Given the description of an element on the screen output the (x, y) to click on. 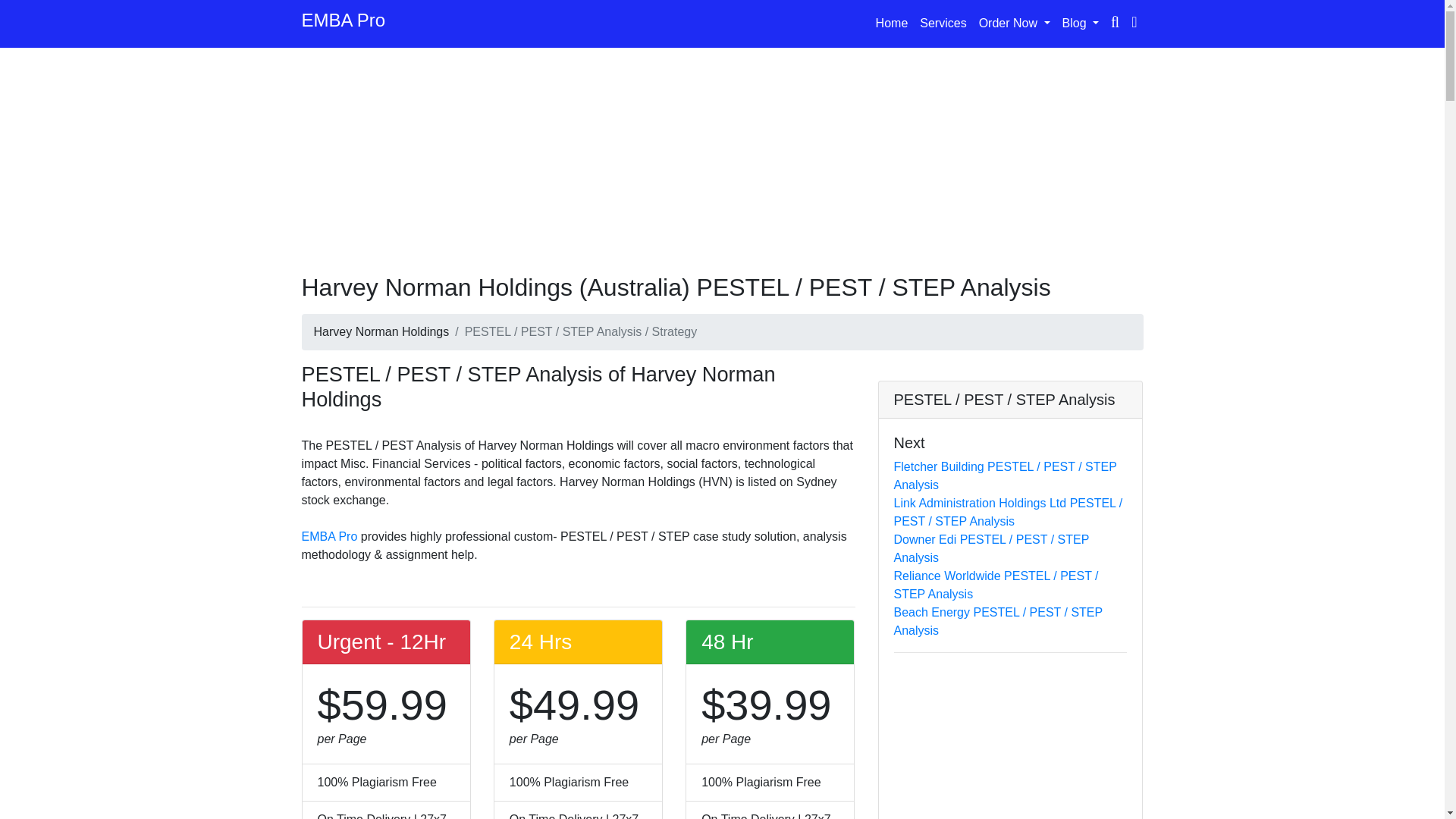
EMBA Pro (343, 23)
EMBA Pro (329, 535)
Blog (1081, 23)
Services (943, 23)
Order Now (1014, 23)
Home (891, 23)
